Given the description of an element on the screen output the (x, y) to click on. 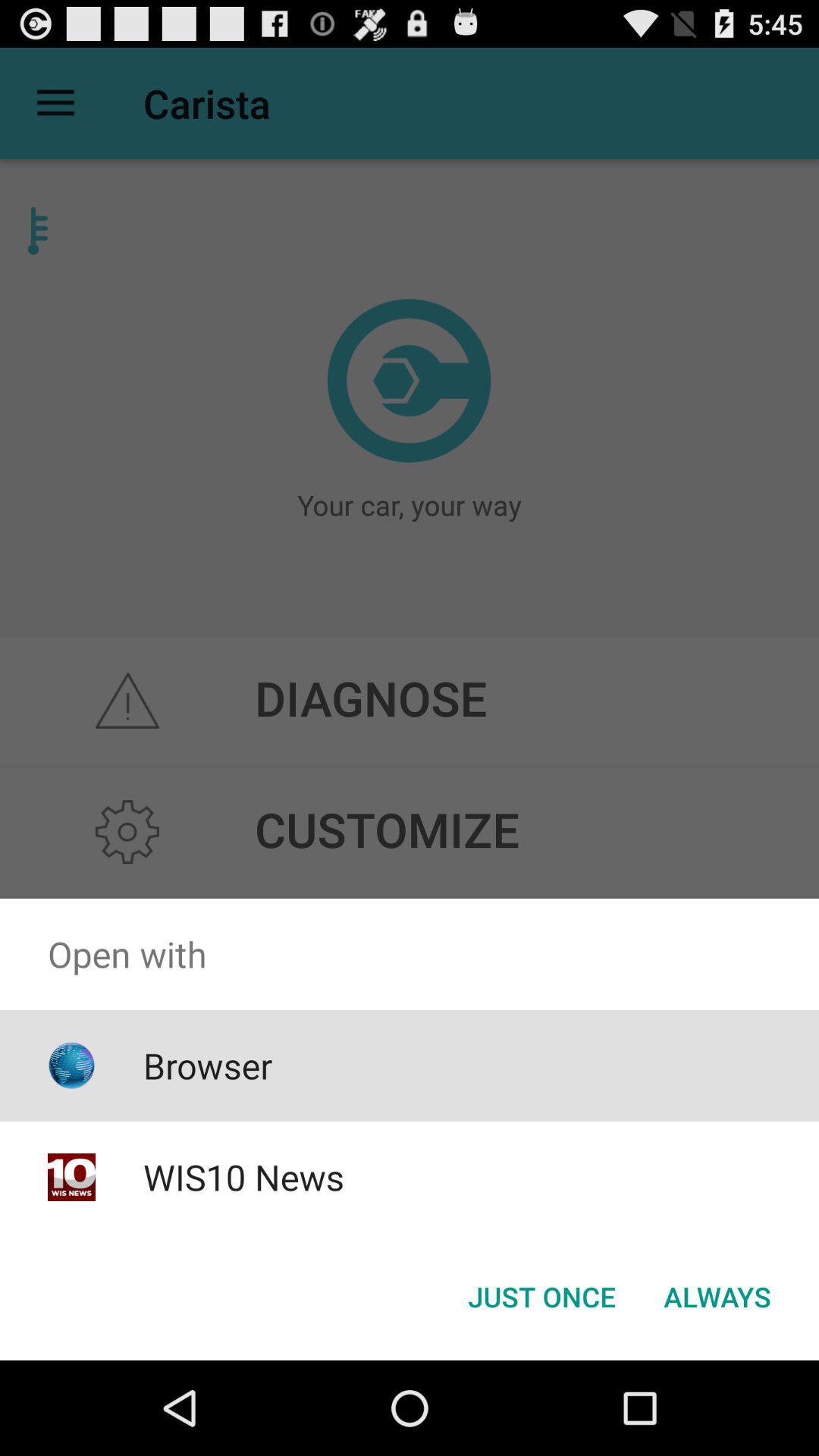
tap the icon next to the just once button (717, 1296)
